Given the description of an element on the screen output the (x, y) to click on. 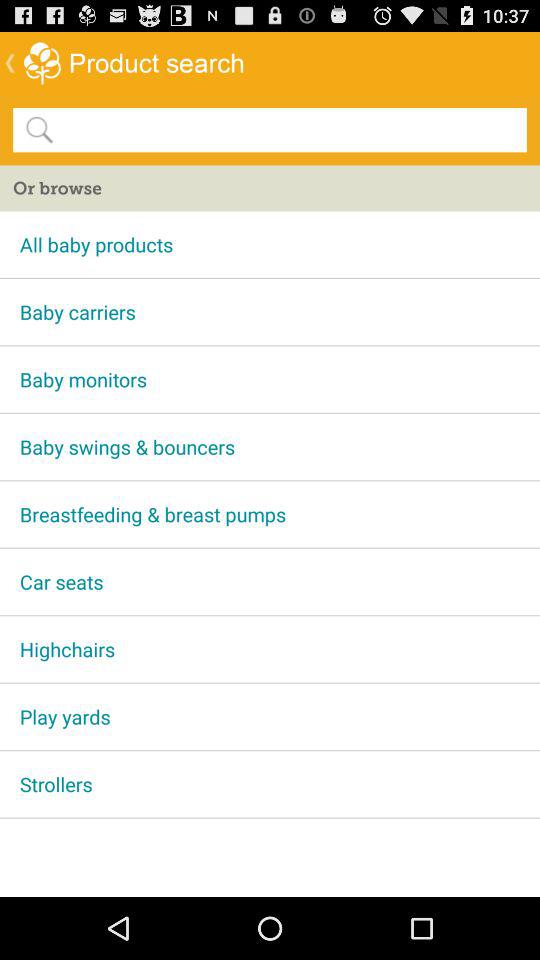
search the product (289, 129)
